Given the description of an element on the screen output the (x, y) to click on. 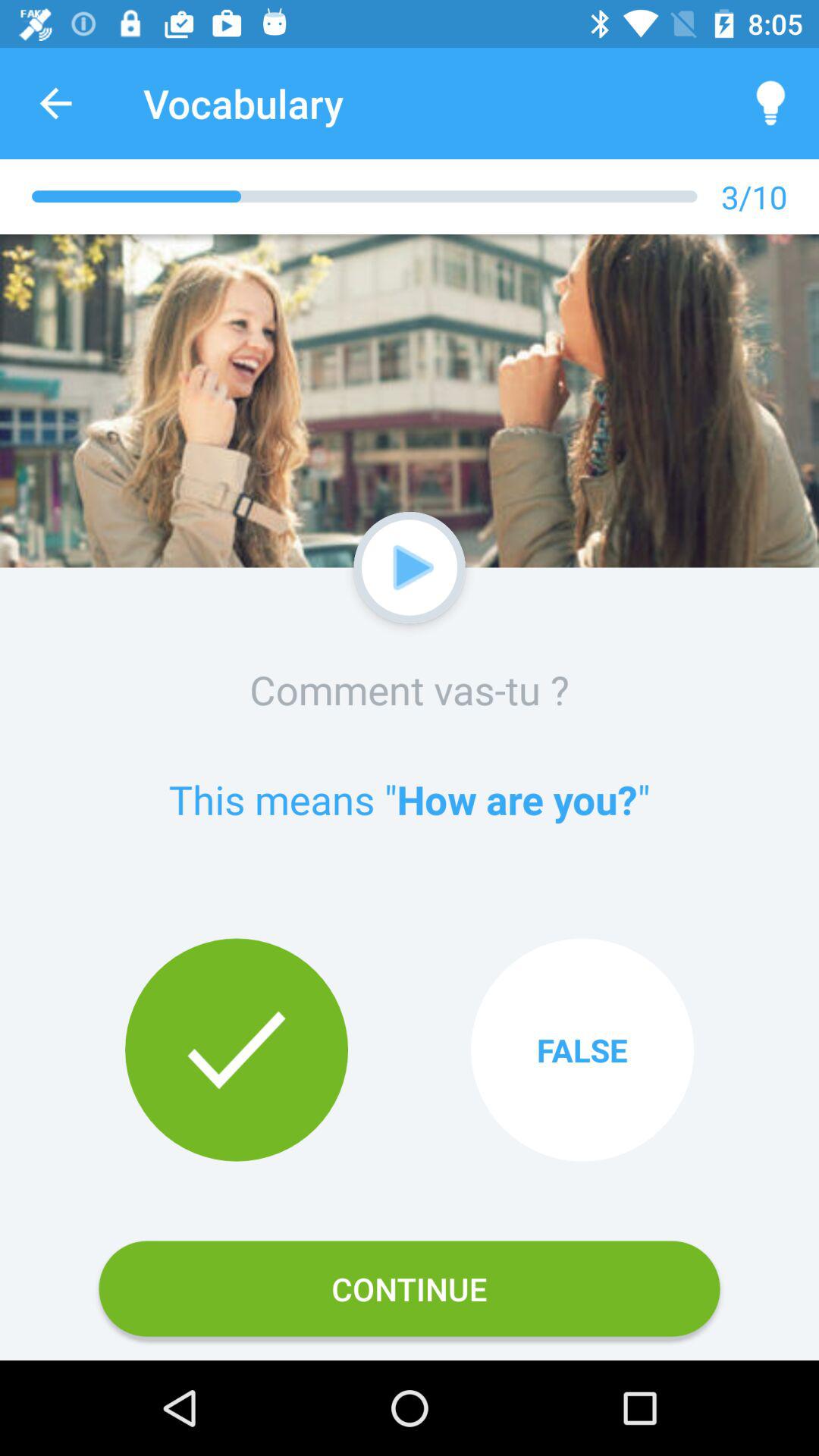
choose the icon below true item (409, 1288)
